Given the description of an element on the screen output the (x, y) to click on. 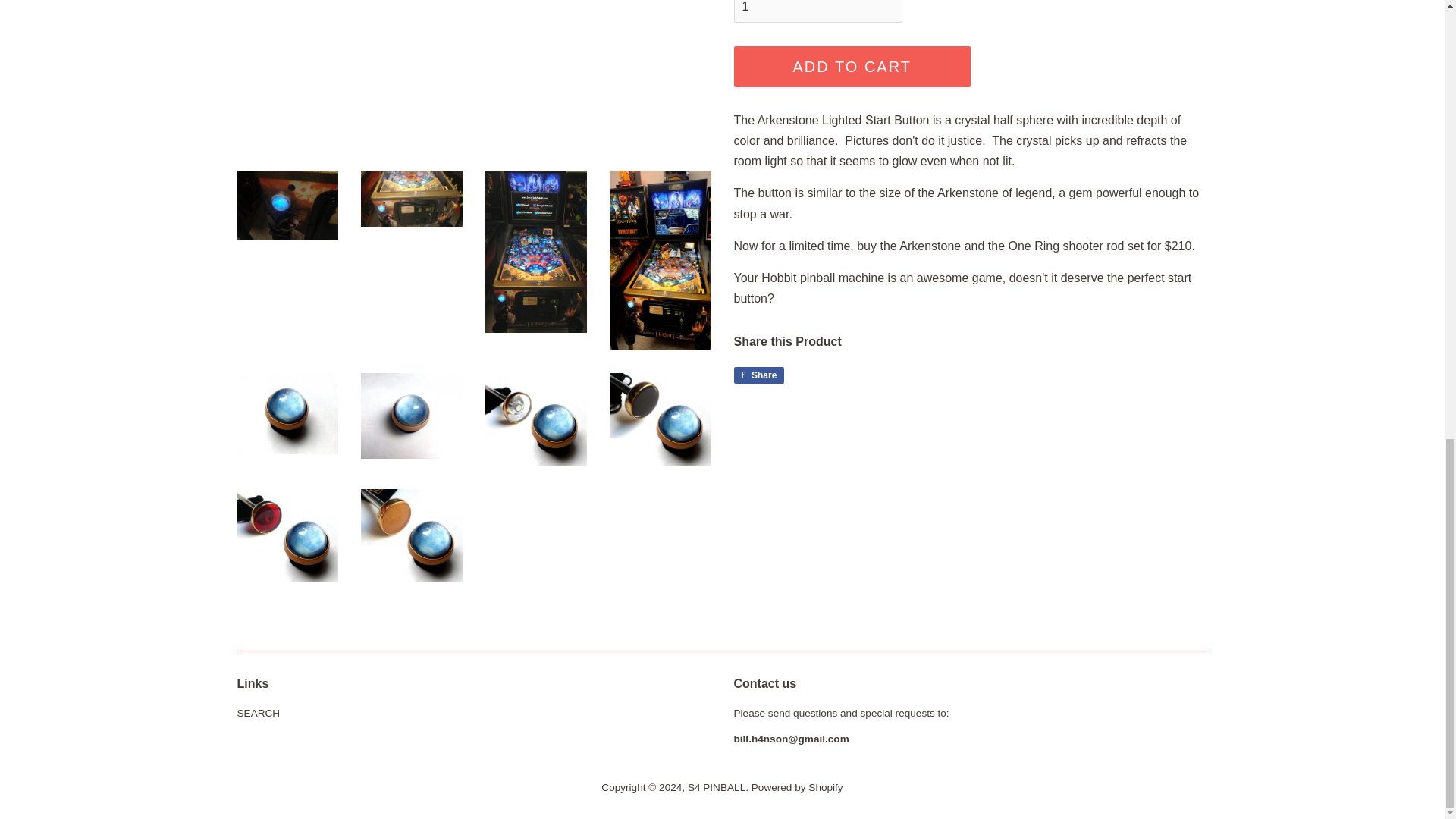
ADD TO CART (852, 65)
1 (758, 375)
S4 PINBALL (817, 11)
Powered by Shopify (716, 787)
SEARCH (797, 787)
Share on Facebook (257, 713)
